Given the description of an element on the screen output the (x, y) to click on. 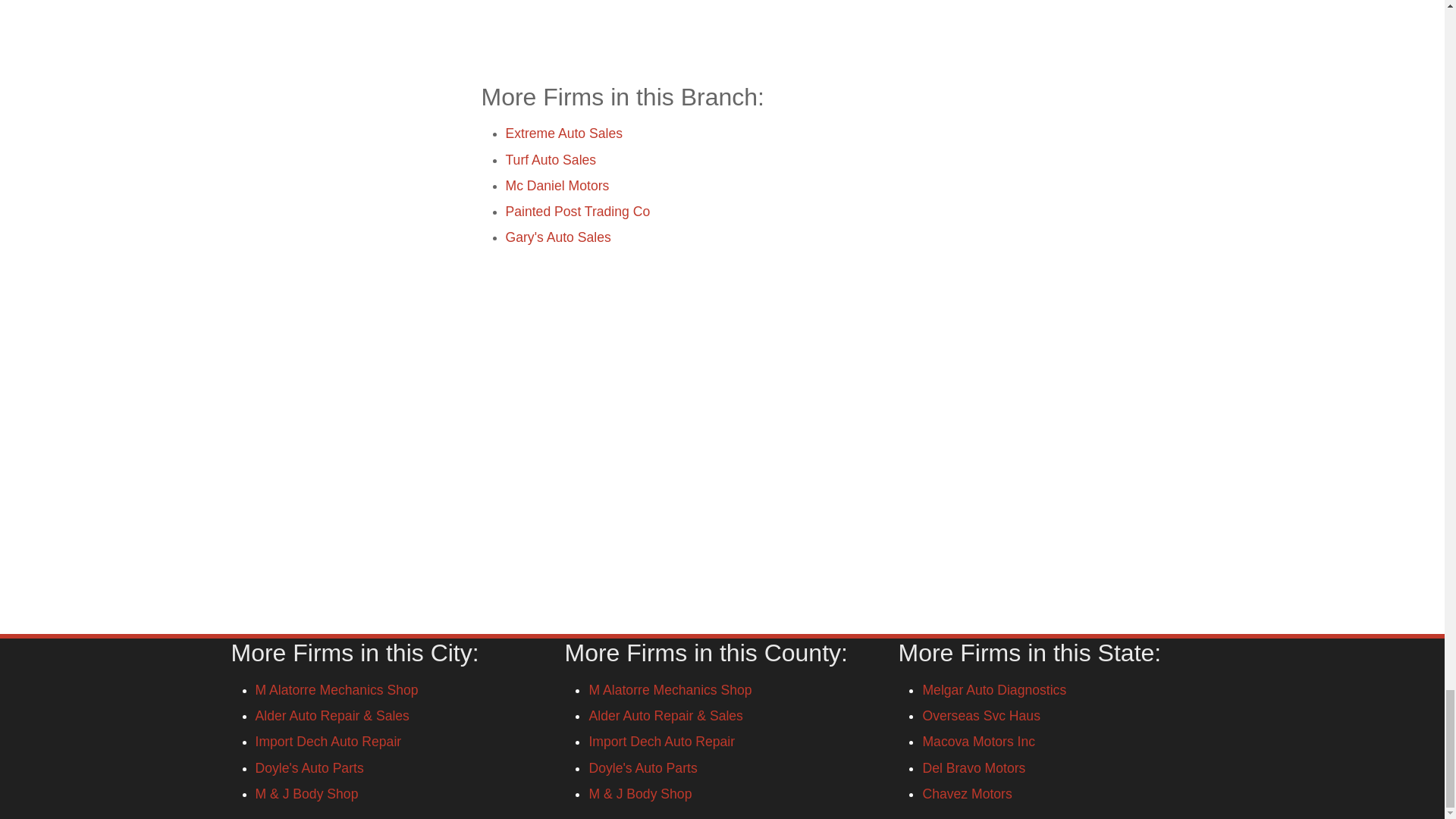
Mc Daniel Motors (556, 185)
Gary's Auto Sales (557, 237)
Painted Post Trading Co (577, 211)
Turf Auto Sales (550, 159)
Extreme Auto Sales (564, 133)
